Given the description of an element on the screen output the (x, y) to click on. 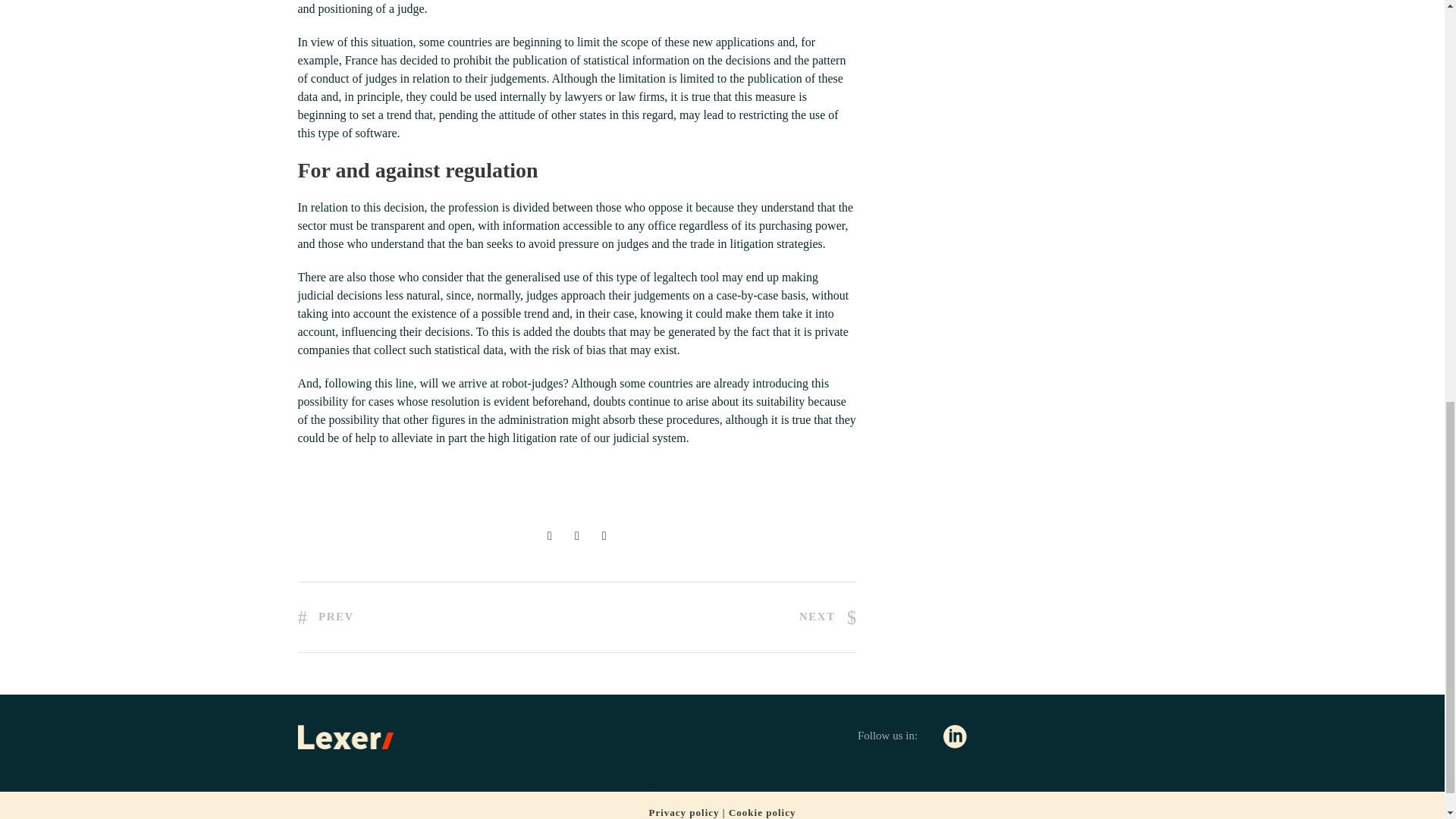
PREV (325, 615)
NEXT (827, 615)
